Given the description of an element on the screen output the (x, y) to click on. 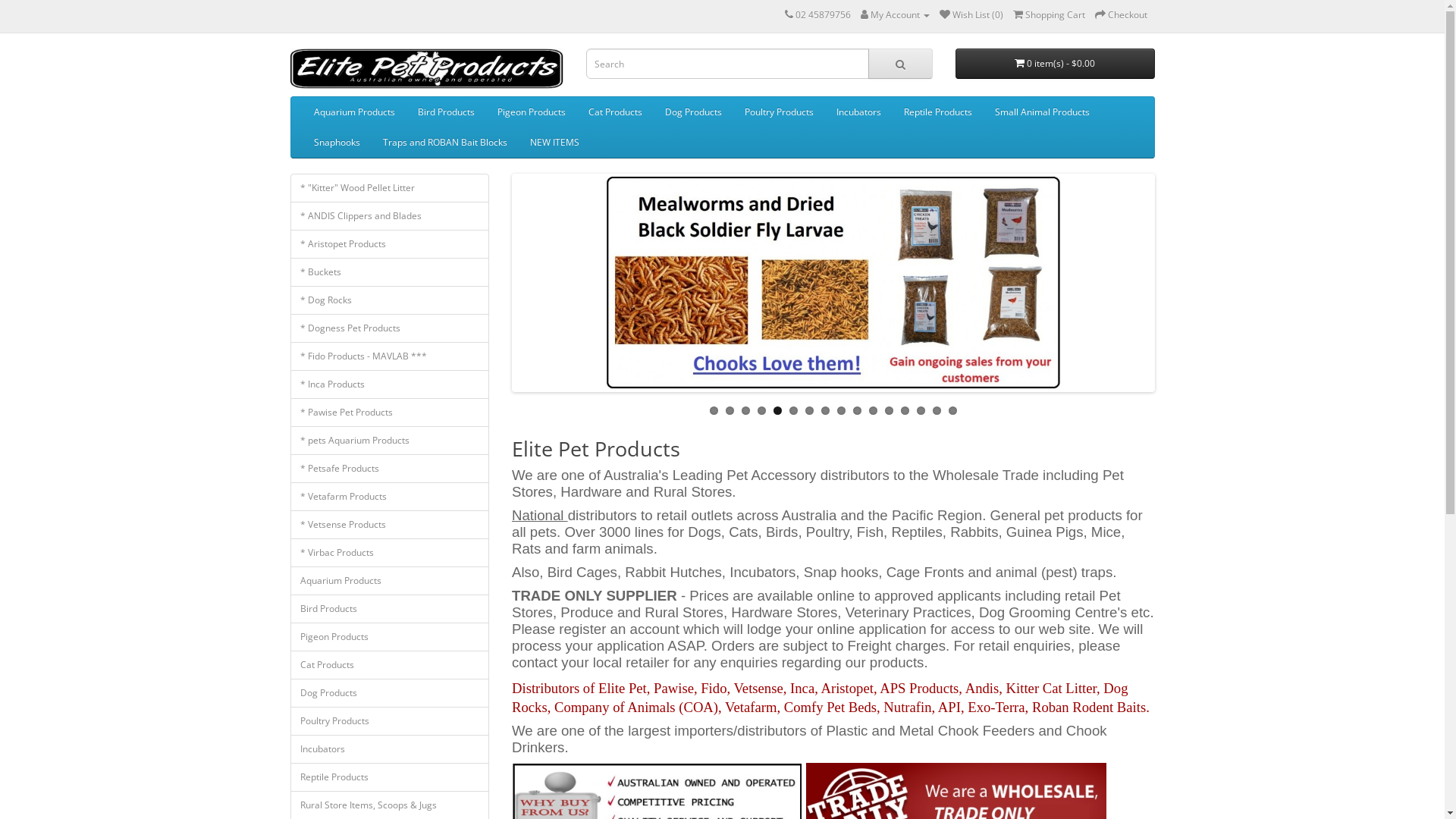
* Dog Rocks Element type: text (389, 299)
Bird Products Element type: text (389, 608)
Dog Products Element type: text (389, 691)
Incubators Element type: text (389, 748)
Aquarium Products Element type: text (389, 579)
Shopping Cart Element type: text (1049, 14)
* "Kitter" Wood Pellet Litter Element type: text (389, 186)
Cat Products Element type: text (389, 664)
* Aristopet Products Element type: text (389, 243)
* pets Aquarium Products Element type: text (389, 440)
Traps and ROBAN Bait Blocks Element type: text (444, 142)
My Account Element type: text (893, 14)
Aquarium Products Element type: text (353, 112)
* Petsafe Products Element type: text (389, 467)
Pigeon Products Element type: text (389, 635)
Reptile Products Element type: text (936, 112)
0 item(s) - $0.00 Element type: text (1054, 63)
Small Animal Products Element type: text (1041, 112)
Cat Products Element type: text (614, 112)
* ANDIS Clippers and Blades Element type: text (389, 215)
Pigeon Products Element type: text (530, 112)
* Fido Products - MAVLAB *** Element type: text (389, 355)
Bird Products Element type: text (446, 112)
* Inca Products Element type: text (389, 384)
* Buckets Element type: text (389, 271)
* Virbac Products Element type: text (389, 552)
Snaphooks Element type: text (335, 142)
Wish List (0) Element type: text (970, 14)
* Vetafarm Products Element type: text (389, 496)
* Pawise Pet Products Element type: text (389, 411)
Poultry Products Element type: text (778, 112)
Poultry Products Element type: text (389, 720)
Dog Products Element type: text (693, 112)
Elite Pet Products Element type: hover (425, 68)
Checkout Element type: text (1121, 14)
* Dogness Pet Products Element type: text (389, 327)
NEW ITEMS Element type: text (554, 142)
Reptile Products Element type: text (389, 776)
Incubators Element type: text (858, 112)
* Vetsense Products Element type: text (389, 523)
